Given the description of an element on the screen output the (x, y) to click on. 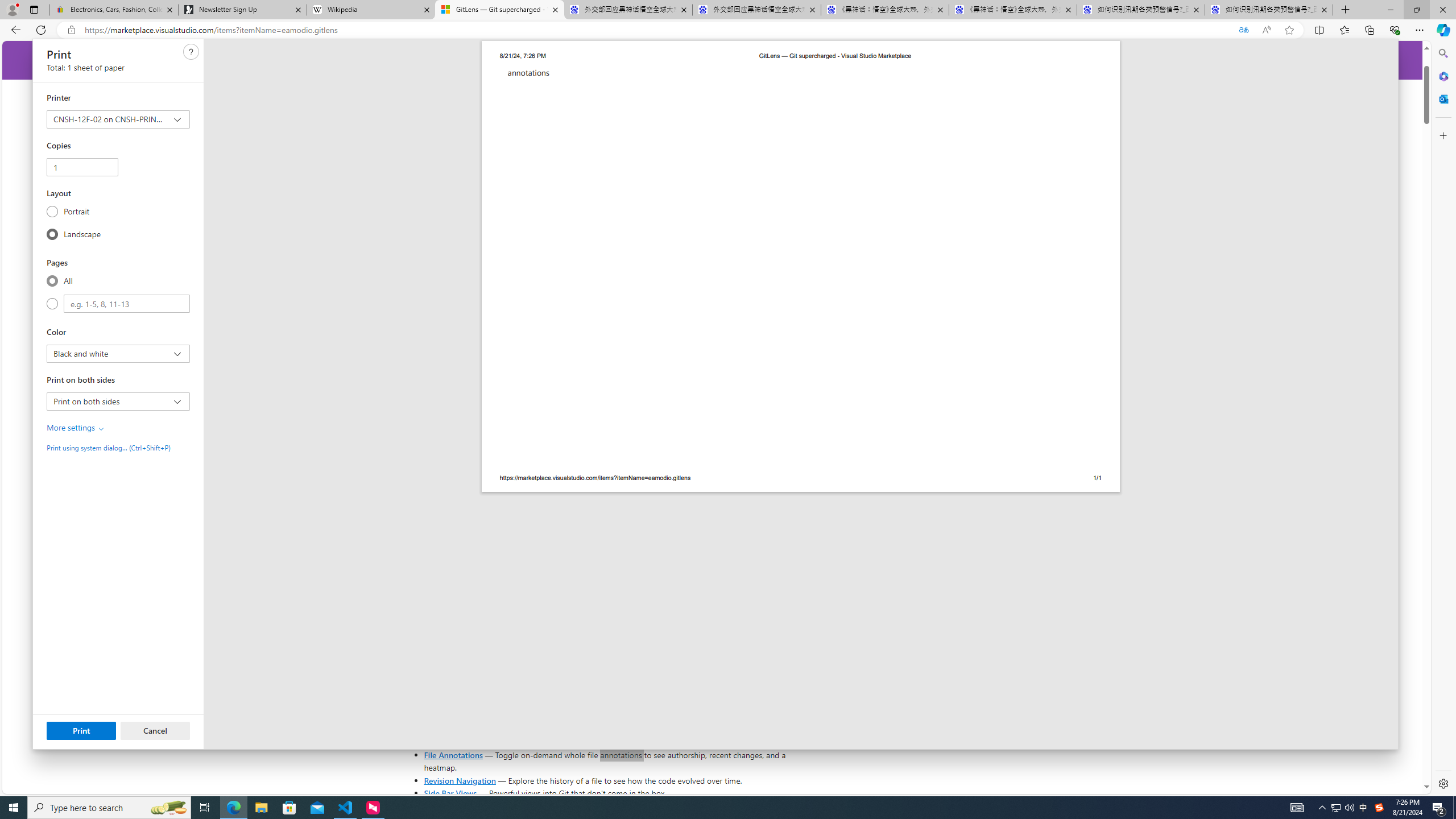
Portrait (52, 211)
Cancel (154, 730)
Printer CNSH-12F-02 on CNSH-PRINT-01 (117, 119)
Custom (52, 303)
All (52, 280)
Need help (191, 51)
Color Black and white (117, 353)
Copies (81, 167)
Print (81, 730)
More settings (76, 427)
Custom (126, 303)
Landscape (52, 233)
Class: c0129 (190, 51)
